Given the description of an element on the screen output the (x, y) to click on. 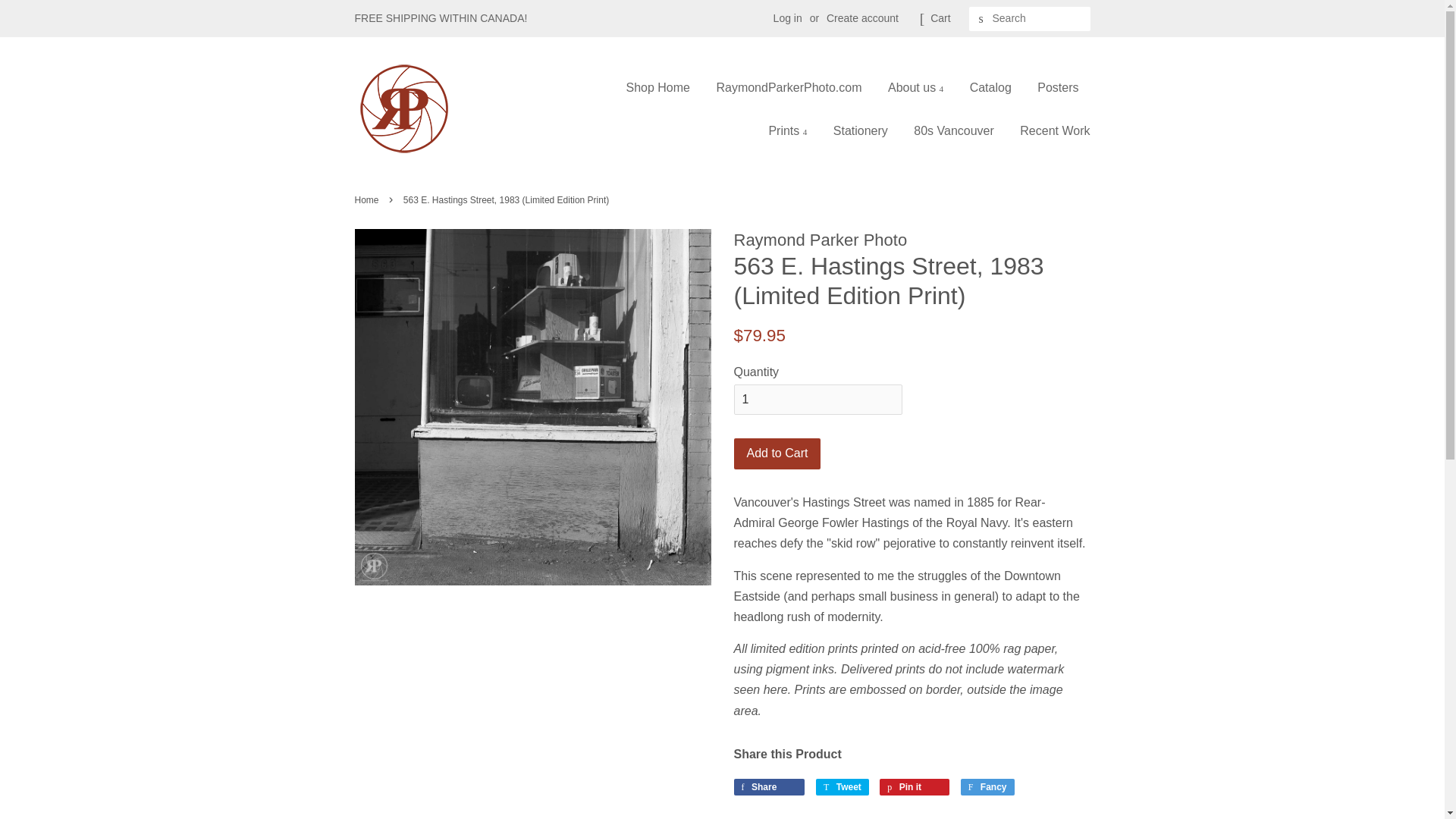
Posters (1057, 87)
Create account (862, 18)
1 (817, 399)
Tweet on Twitter (842, 786)
Log in (787, 18)
Add to Fancy (987, 786)
Pin on Pinterest (914, 786)
Stationery (860, 130)
RaymondParkerPhoto.com (788, 87)
Cart (940, 18)
Back to the frontpage (368, 199)
Shop Home (663, 87)
Search (980, 18)
Prints (787, 130)
80s Vancouver (954, 130)
